Given the description of an element on the screen output the (x, y) to click on. 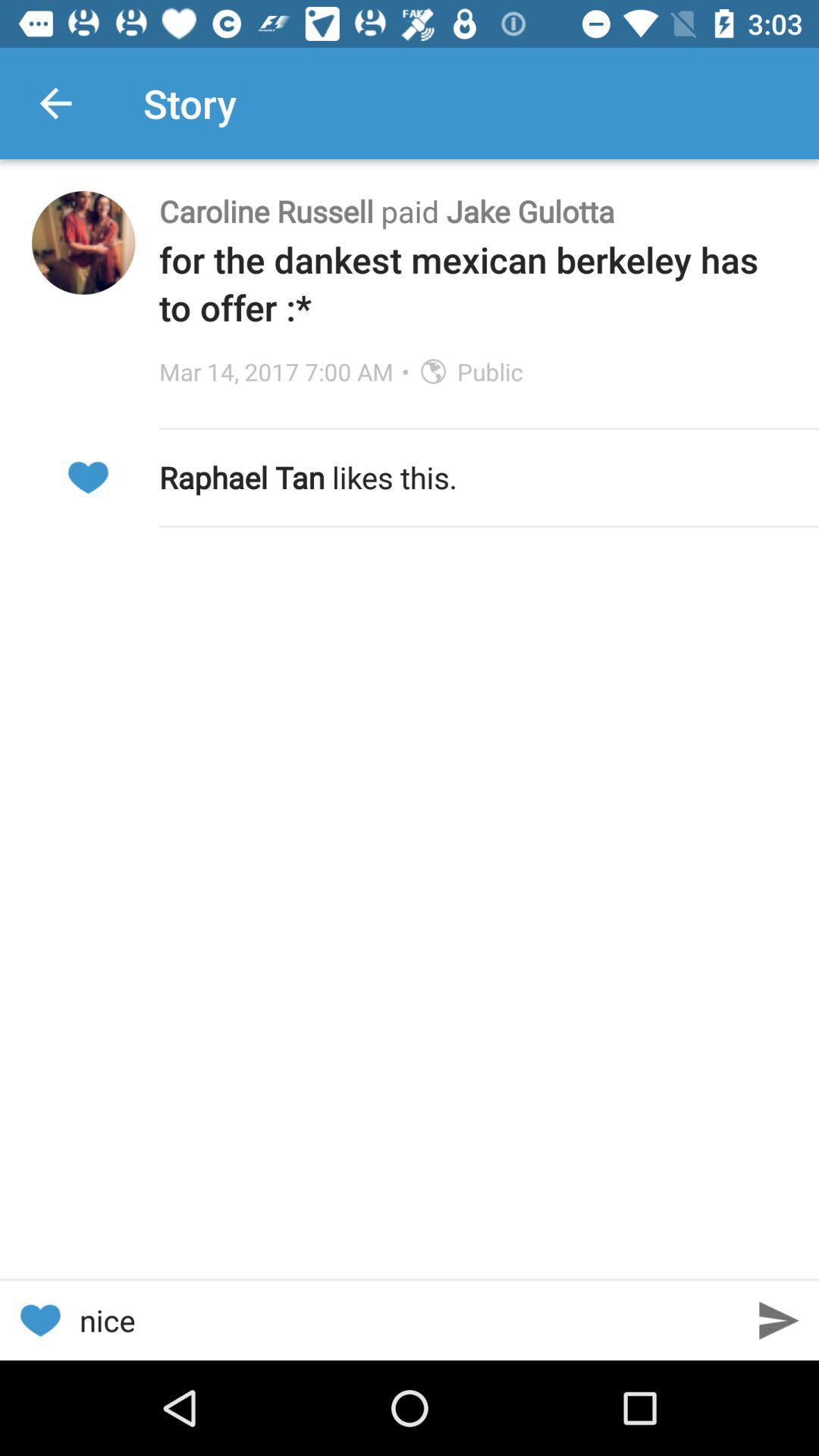
heart the transaction (87, 477)
